Given the description of an element on the screen output the (x, y) to click on. 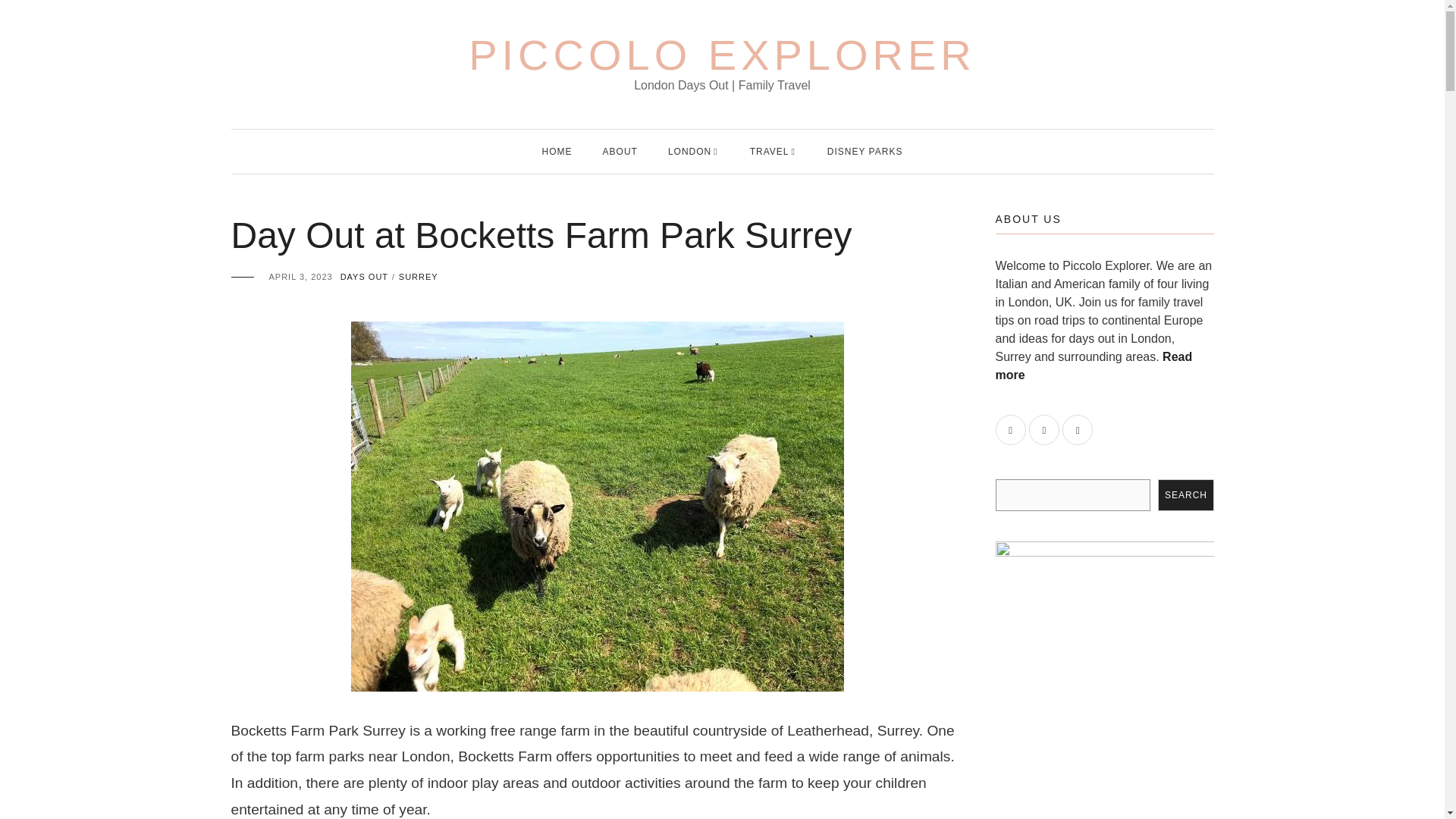
PICCOLO EXPLORER (721, 55)
TRAVEL (769, 151)
DISNEY PARKS (864, 151)
SURREY (418, 276)
DAYS OUT (364, 276)
LONDON (689, 151)
